Given the description of an element on the screen output the (x, y) to click on. 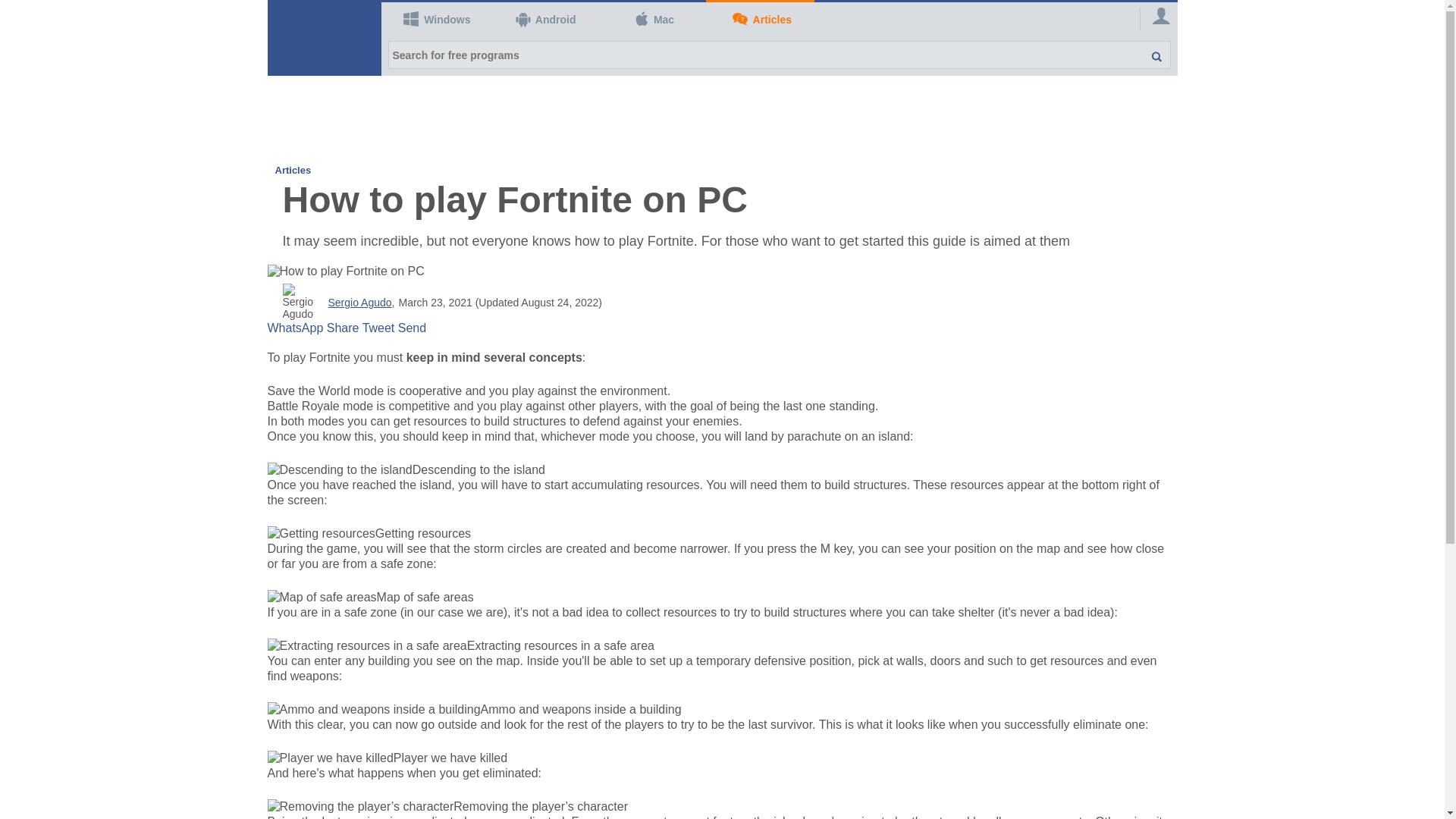
Sergio Agudo (359, 302)
Articles (293, 170)
QAs (760, 19)
Send (411, 327)
Articles (293, 170)
Download programs free for Android (543, 19)
Articles (760, 19)
search (1148, 54)
Share (342, 327)
Mac (651, 19)
